Given the description of an element on the screen output the (x, y) to click on. 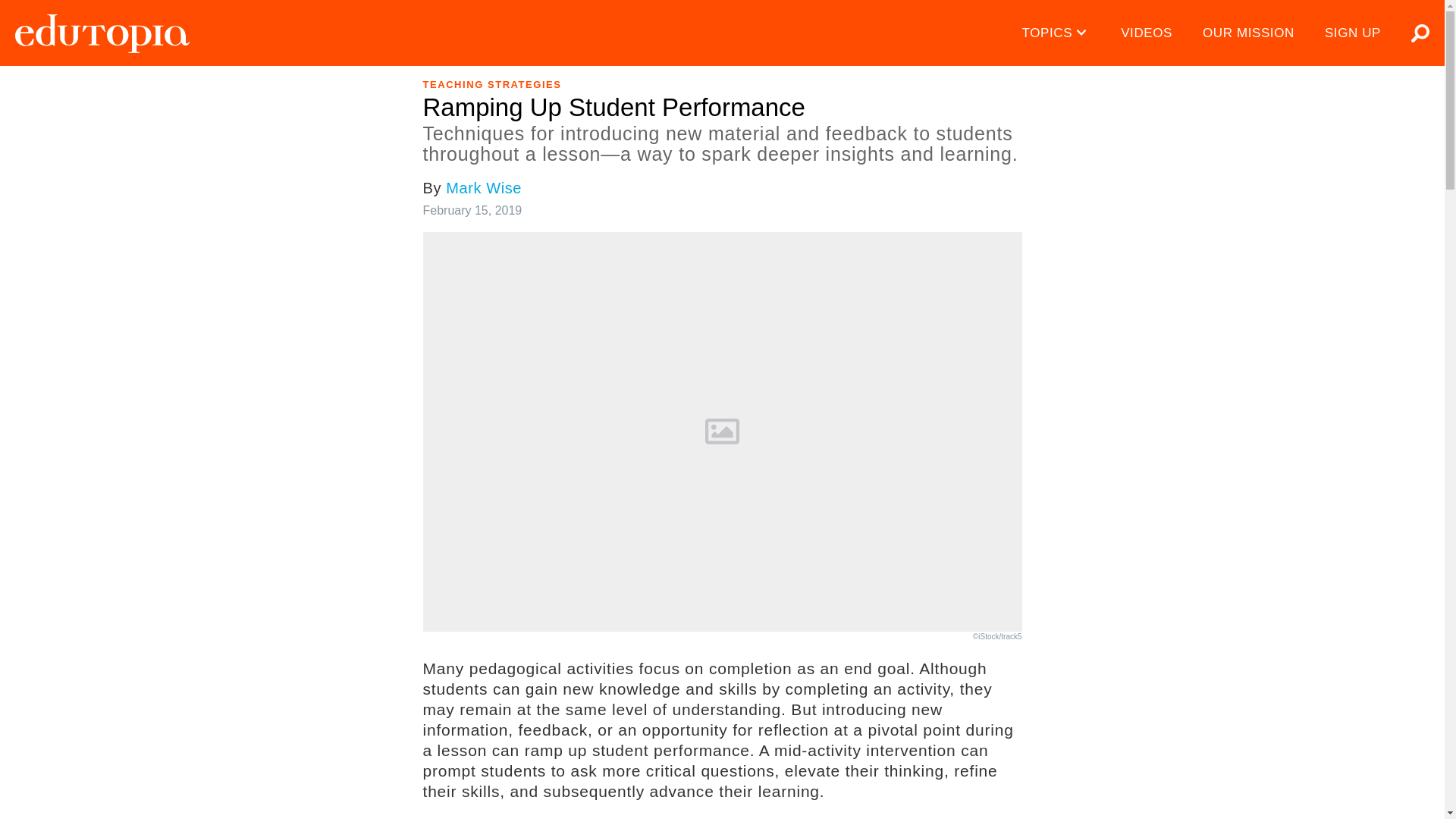
OUR MISSION (1248, 33)
Mark Wise (483, 187)
TOPICS (1056, 33)
VIDEOS (1146, 33)
Edutopia (101, 33)
SIGN UP (1352, 33)
Edutopia (101, 33)
